Given the description of an element on the screen output the (x, y) to click on. 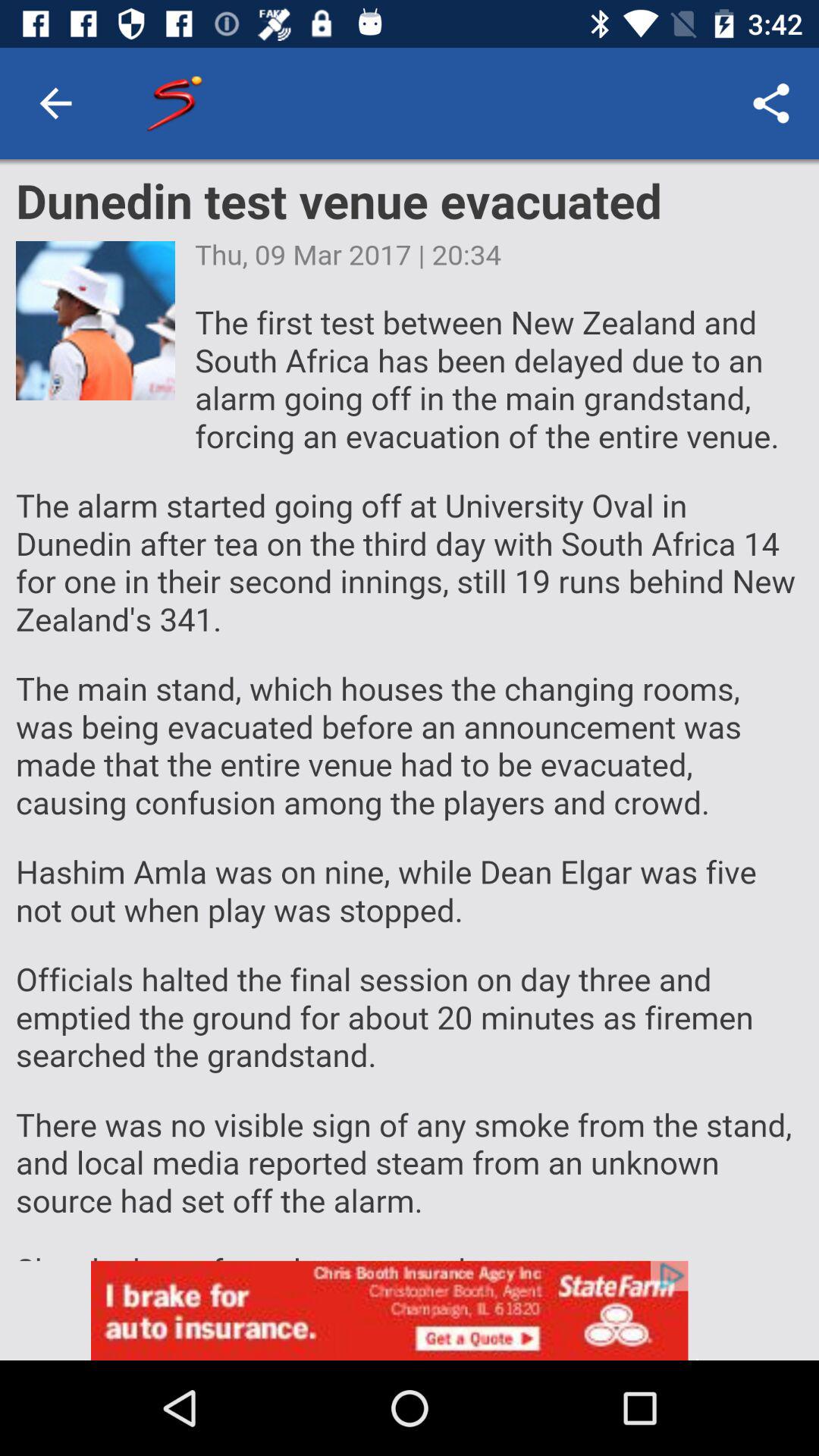
opens a advertisement (409, 1310)
